Given the description of an element on the screen output the (x, y) to click on. 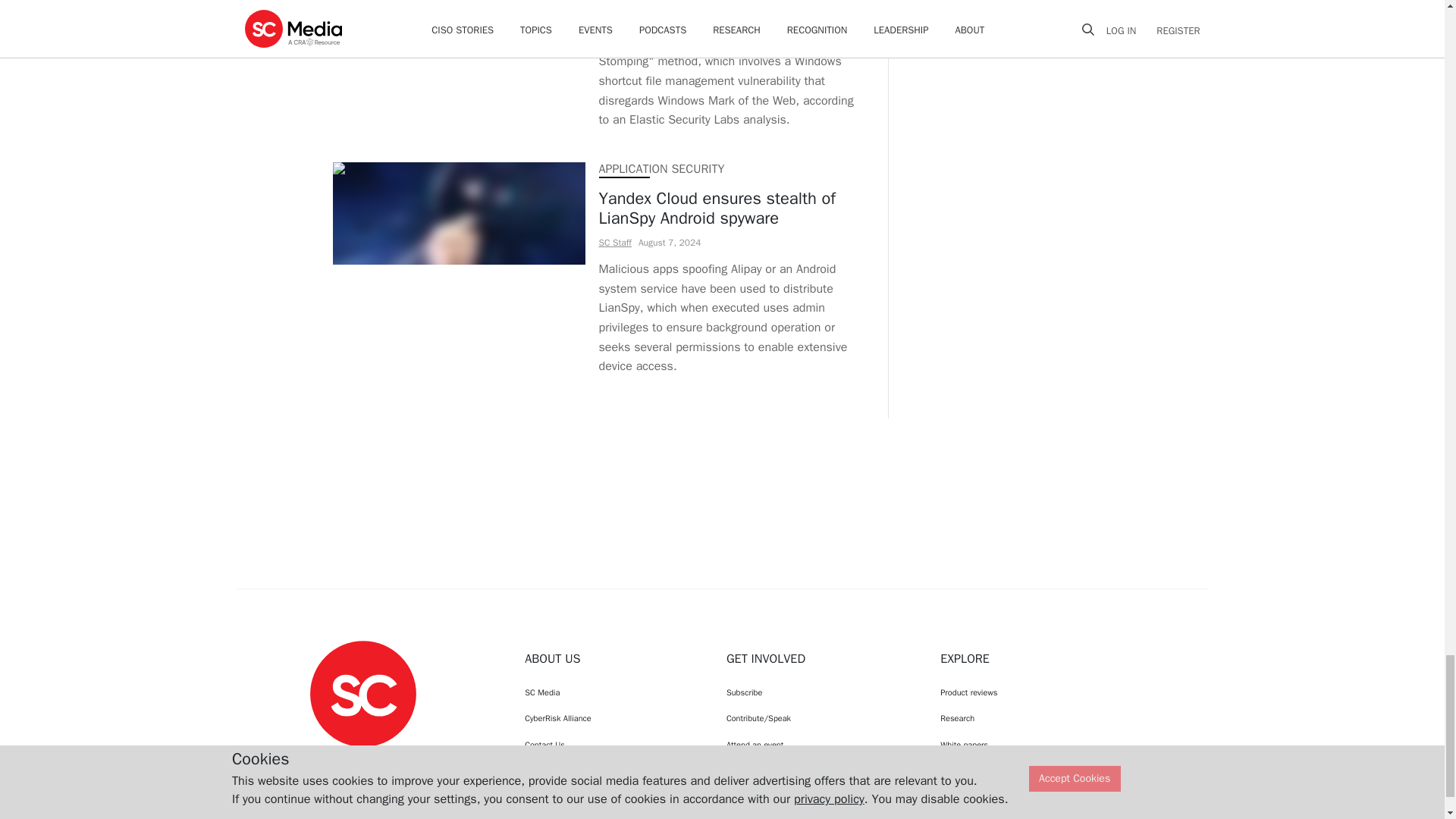
Yandex Cloud ensures stealth of LianSpy Android spyware (729, 209)
SC Staff (614, 15)
APPLICATION SECURITY (661, 168)
SCMagazine on Twitter (362, 760)
SCMagazine on Facebook (324, 760)
SC Staff (614, 242)
SC Media (362, 693)
SCMagazine on LinkedIn (401, 760)
